Given the description of an element on the screen output the (x, y) to click on. 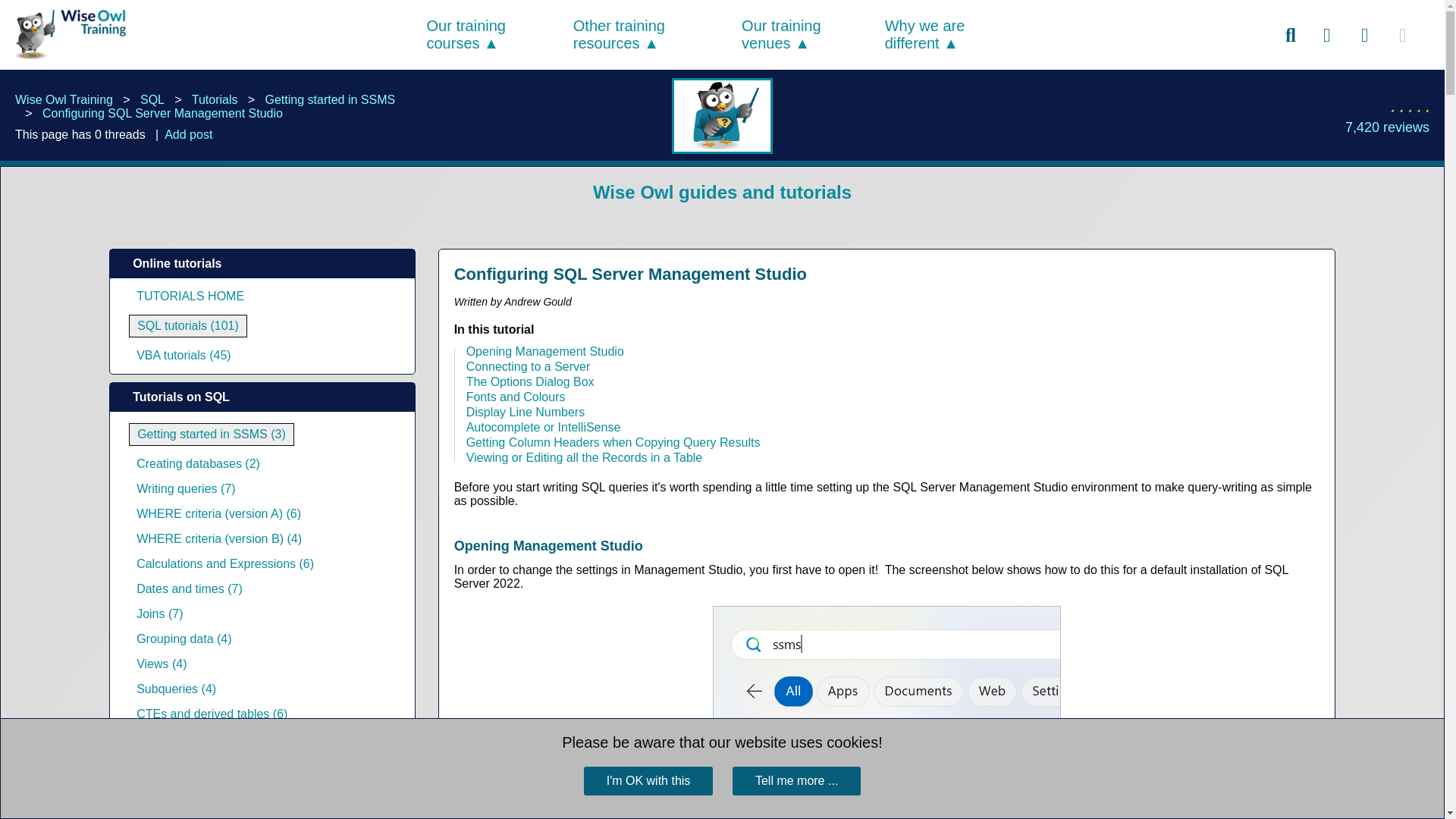
Wise Owl Training (67, 34)
Our training courses (465, 34)
Wise Owl Training (65, 60)
